Given the description of an element on the screen output the (x, y) to click on. 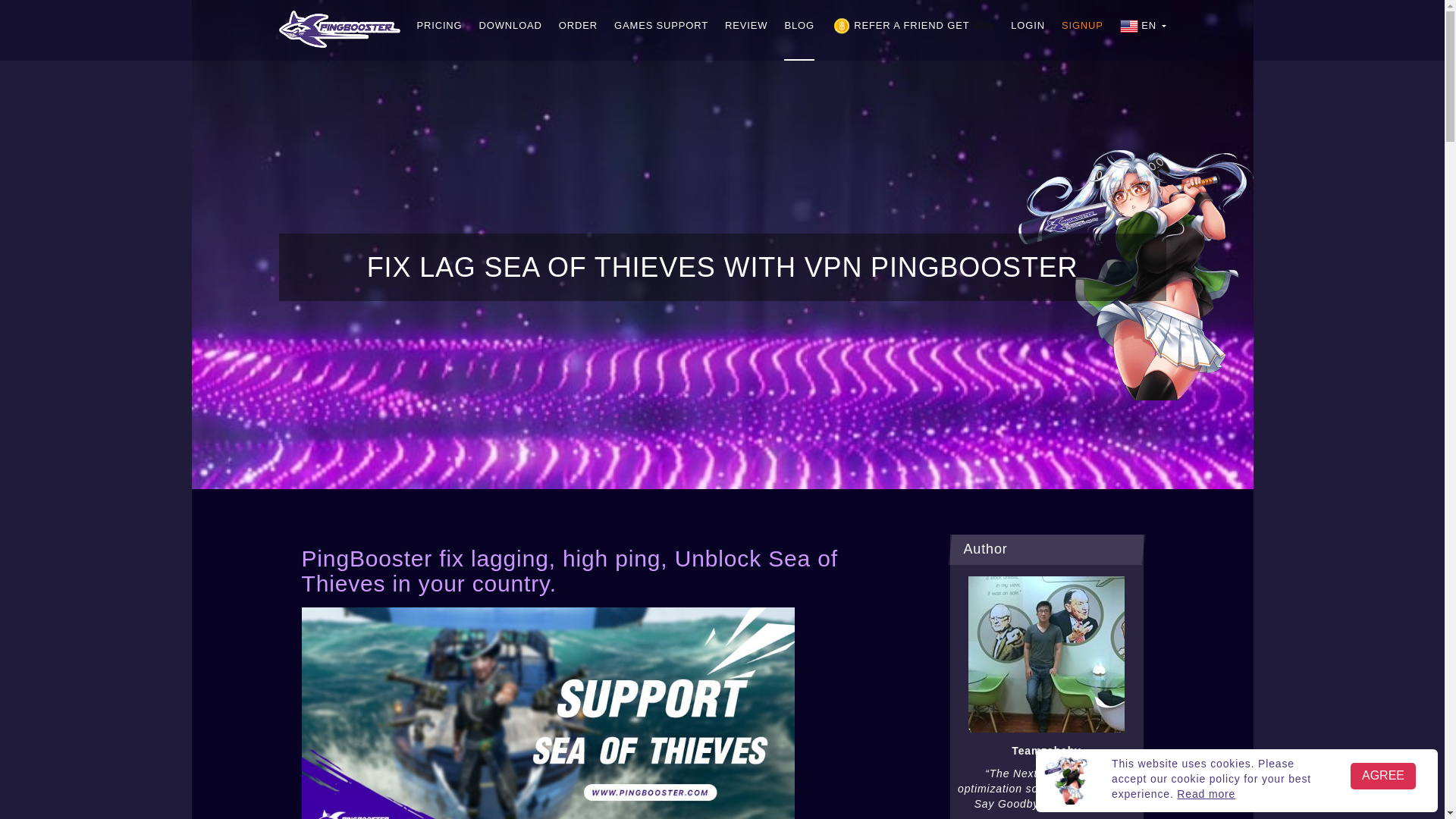
GAMES SUPPORT (660, 30)
AGREE (1383, 775)
DOWNLOAD (510, 30)
Read more (1205, 793)
